Given the description of an element on the screen output the (x, y) to click on. 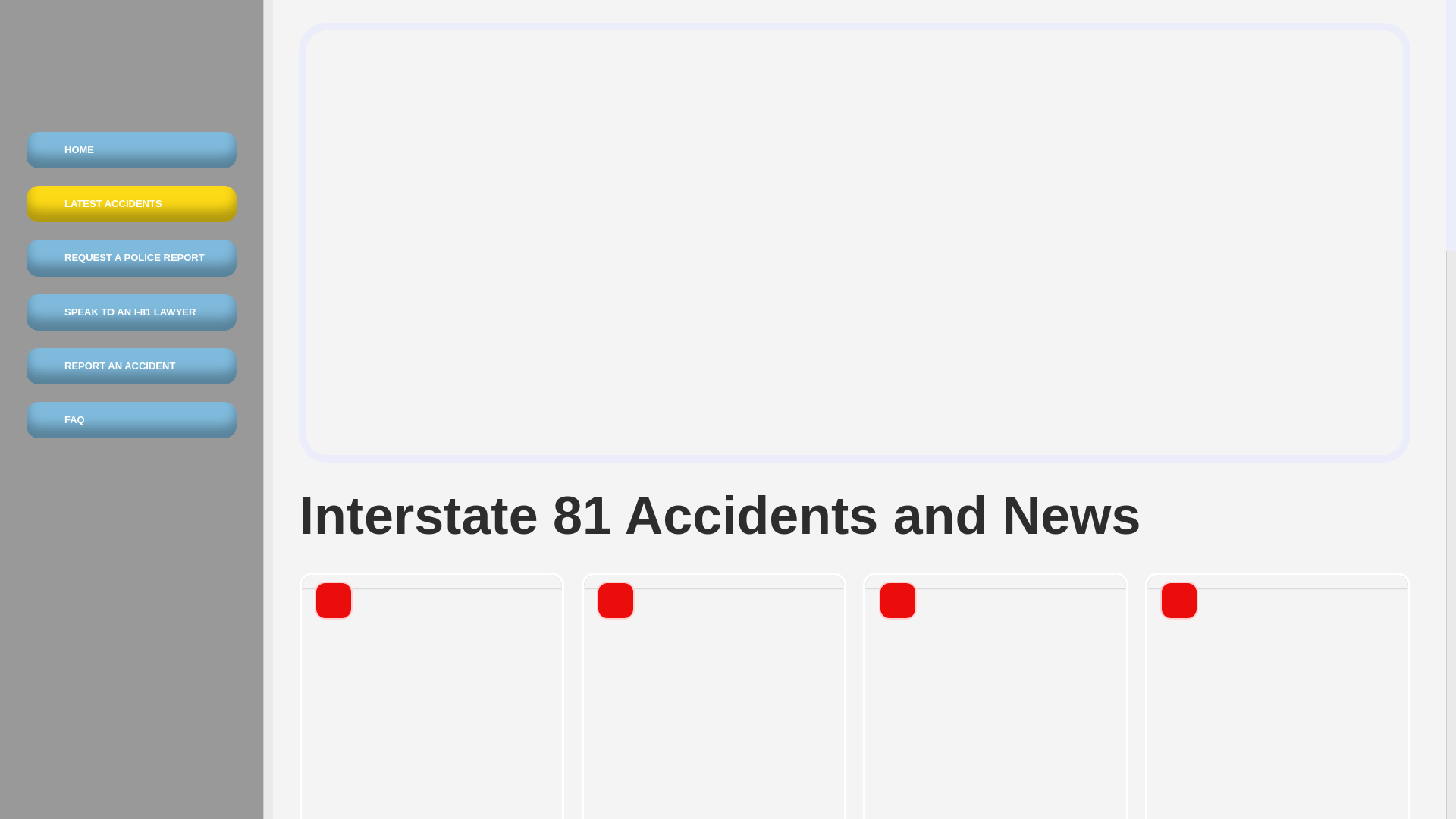
HOME (130, 149)
REPORT AN ACCIDENT (130, 366)
REQUEST A POLICE REPORT (130, 257)
FAQ (130, 420)
LATEST ACCIDENTS (130, 203)
SPEAK TO AN I-81 LAWYER (130, 312)
